Given the description of an element on the screen output the (x, y) to click on. 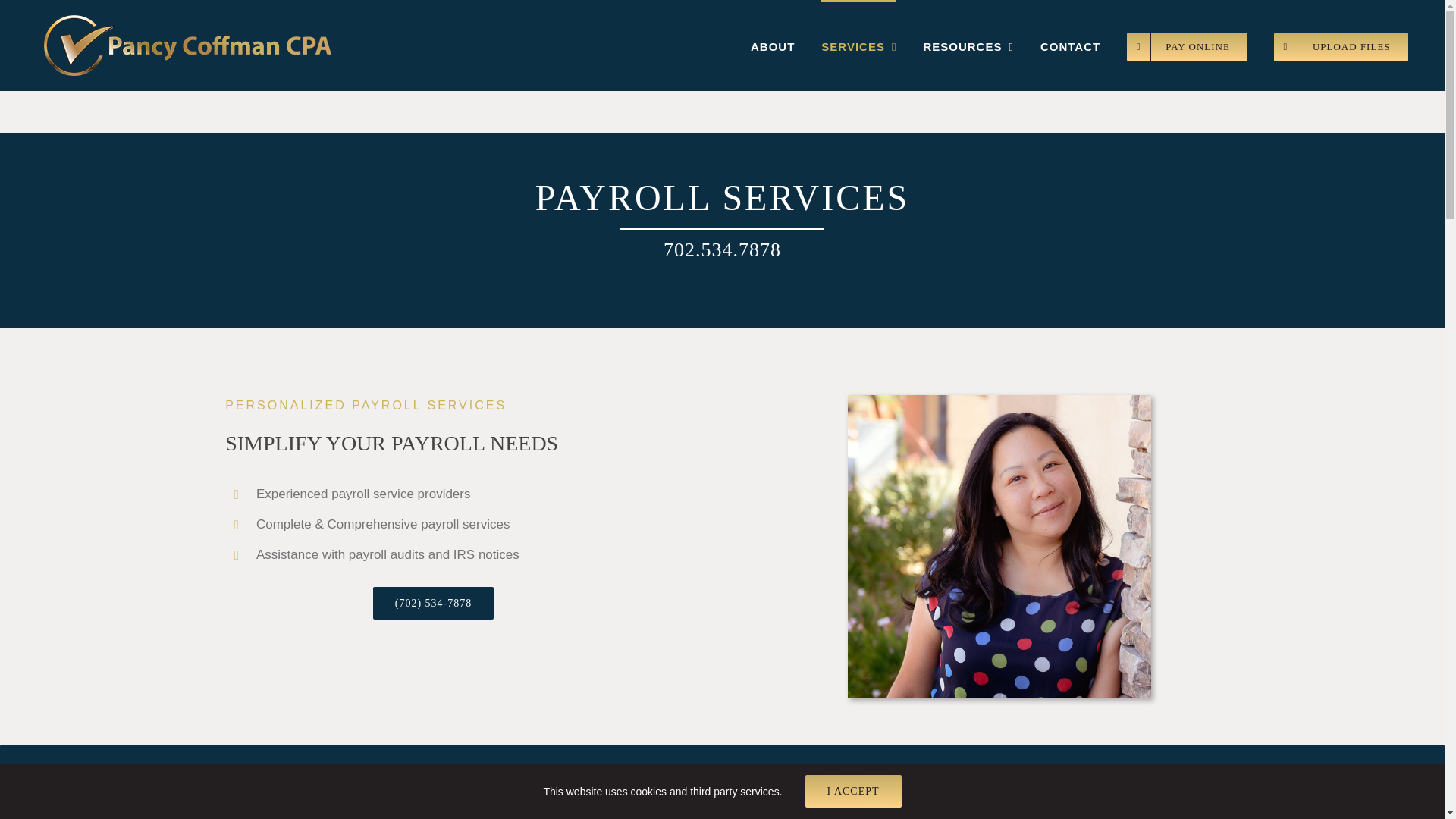
RESOURCES (968, 45)
UPLOAD FILES (1340, 45)
PAY ONLINE (1186, 45)
Jill-Heupel-138 (999, 546)
